Given the description of an element on the screen output the (x, y) to click on. 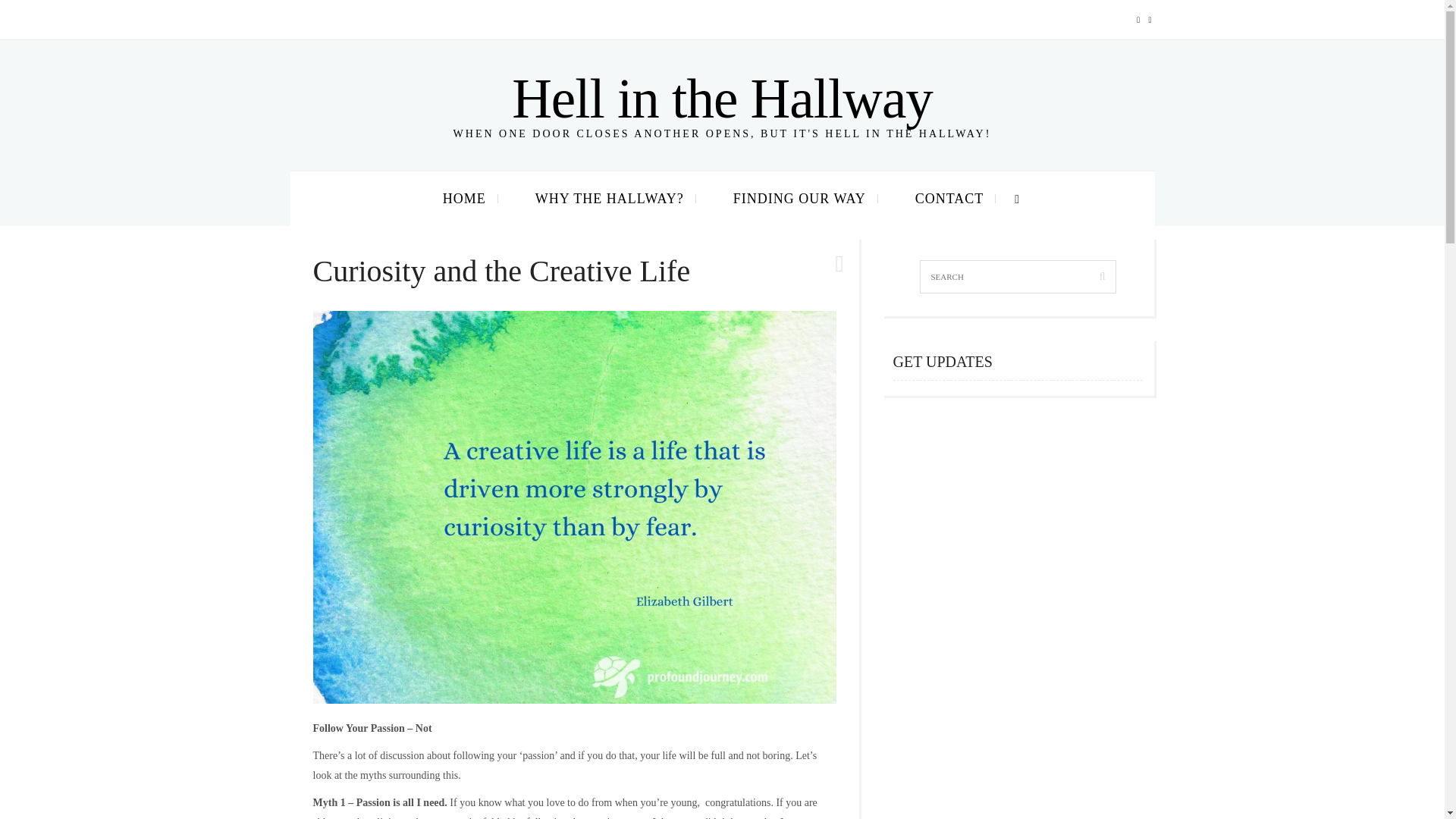
WHY THE HALLWAY? (610, 198)
FINDING OUR WAY (800, 198)
CONTACT (950, 198)
Hell in the Hallway (722, 98)
HOME (465, 198)
